Given the description of an element on the screen output the (x, y) to click on. 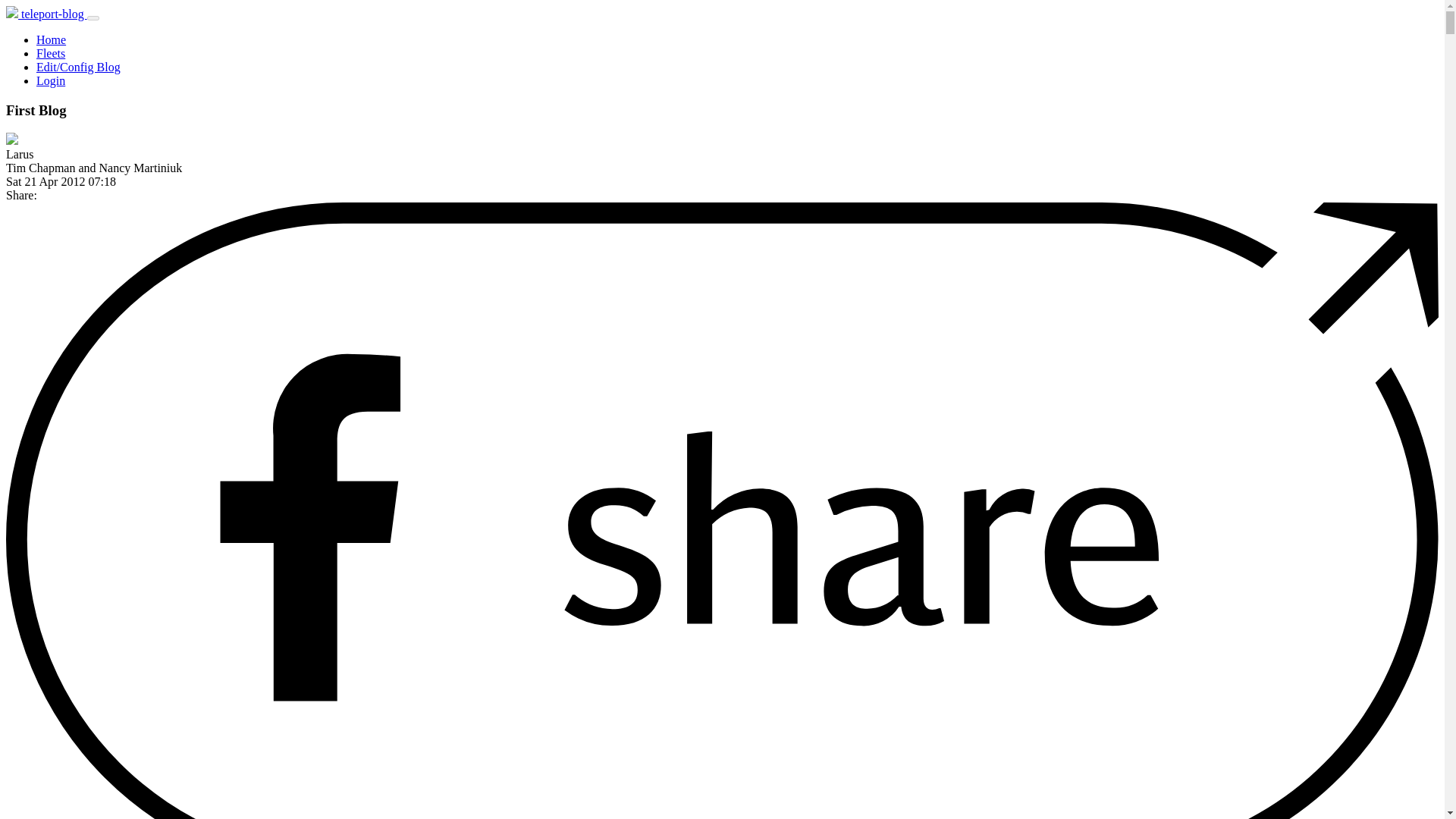
Home (50, 39)
Fleets (50, 52)
Login (50, 80)
teleport-blog (46, 13)
